Given the description of an element on the screen output the (x, y) to click on. 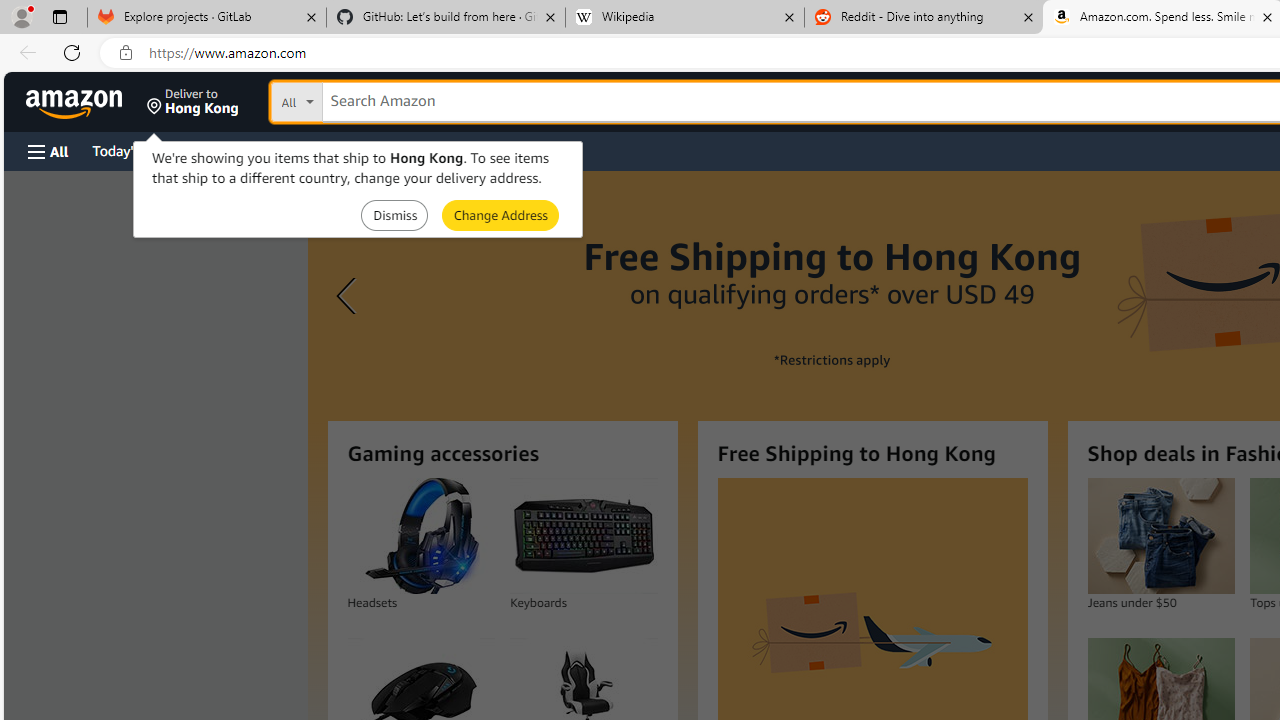
Registry (360, 150)
Submit (499, 214)
Headsets (420, 536)
Amazon (76, 101)
Jeans under $50 (1160, 536)
